Given the description of an element on the screen output the (x, y) to click on. 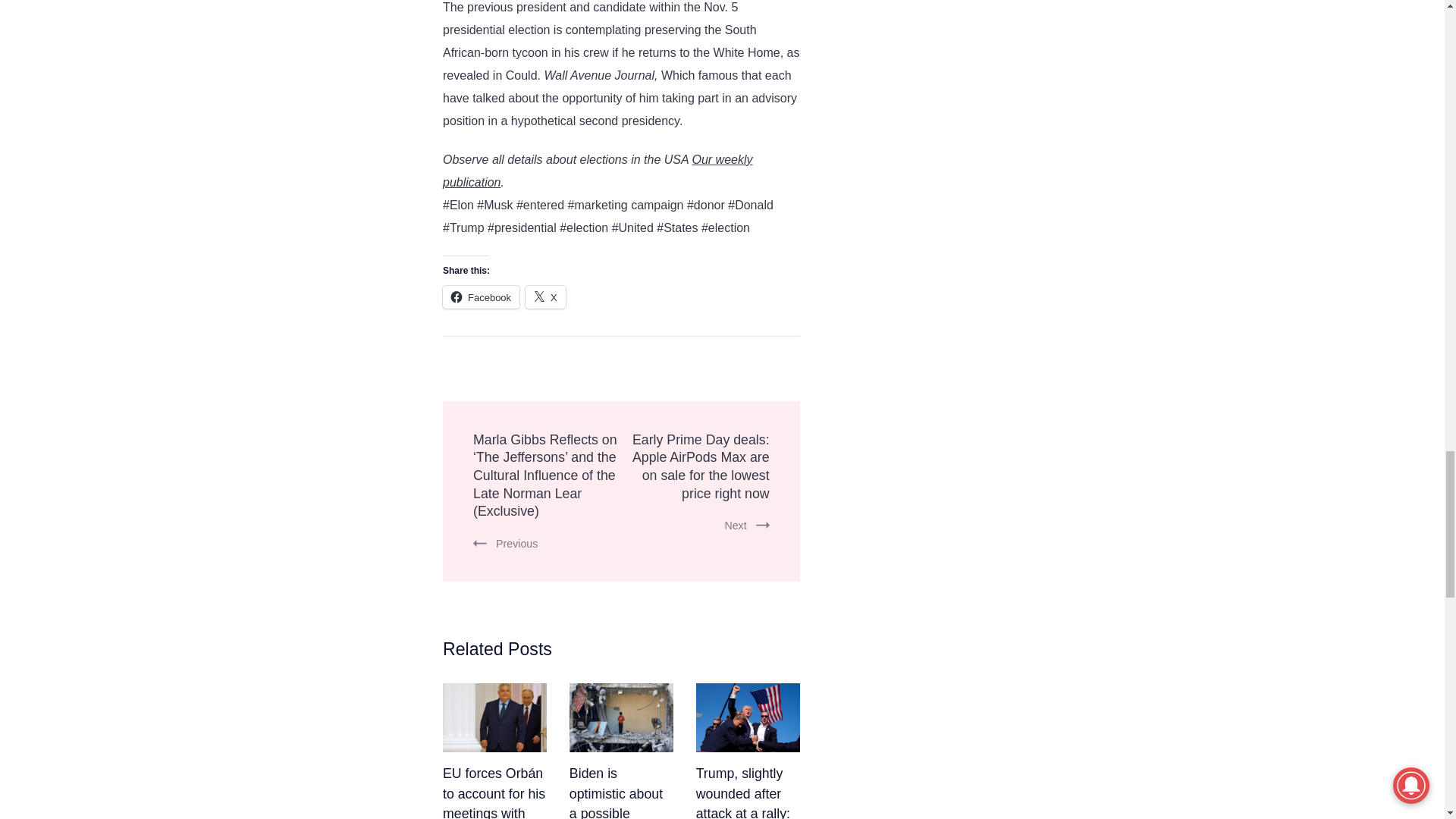
Click to share on Facebook (480, 296)
Click to share on X (545, 296)
